Given the description of an element on the screen output the (x, y) to click on. 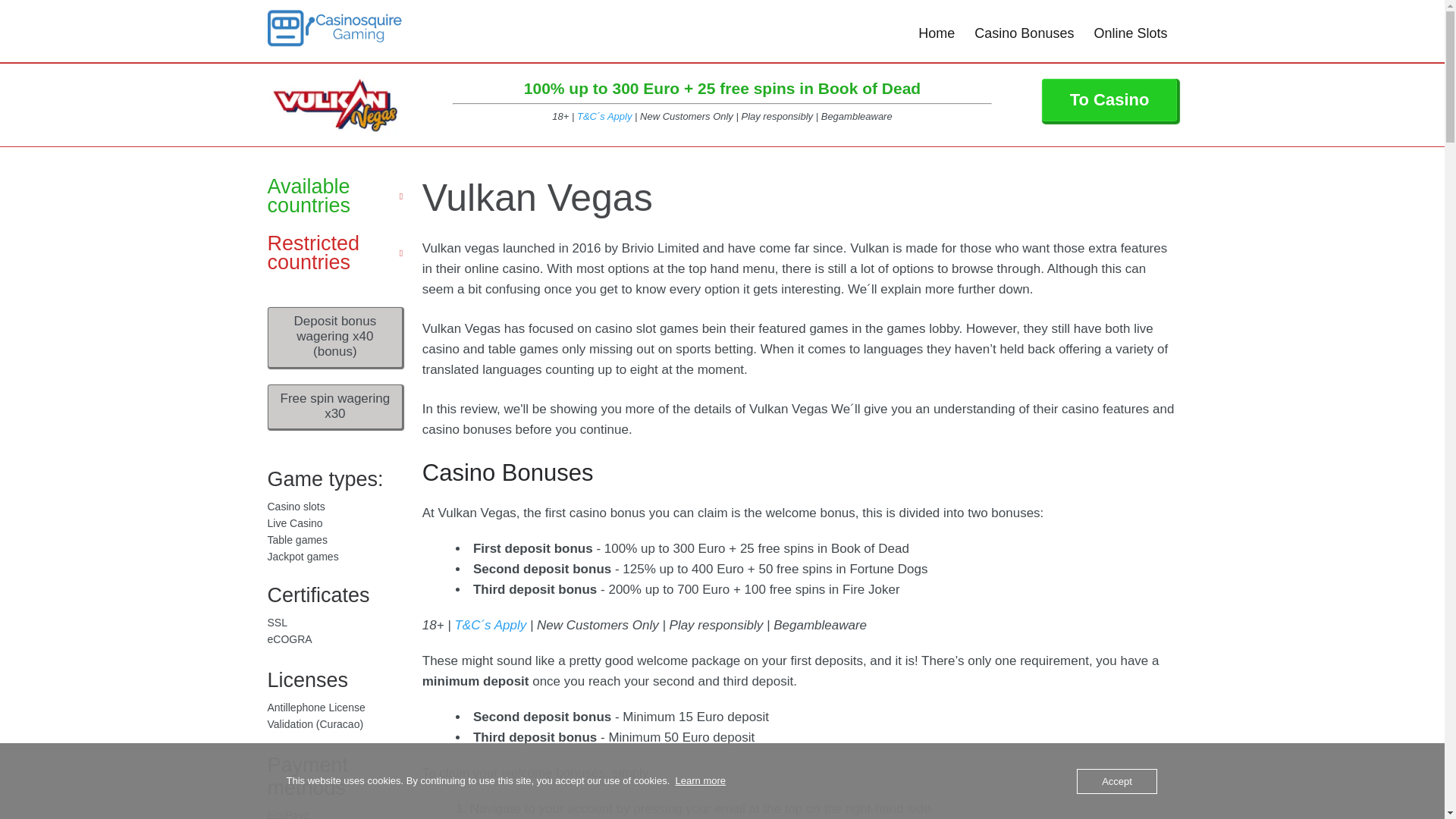
To Casino (1109, 99)
Online Slots (1130, 33)
Casino Bonuses (1024, 33)
Home (936, 33)
Accept (1117, 781)
Learn more (700, 780)
